Given the description of an element on the screen output the (x, y) to click on. 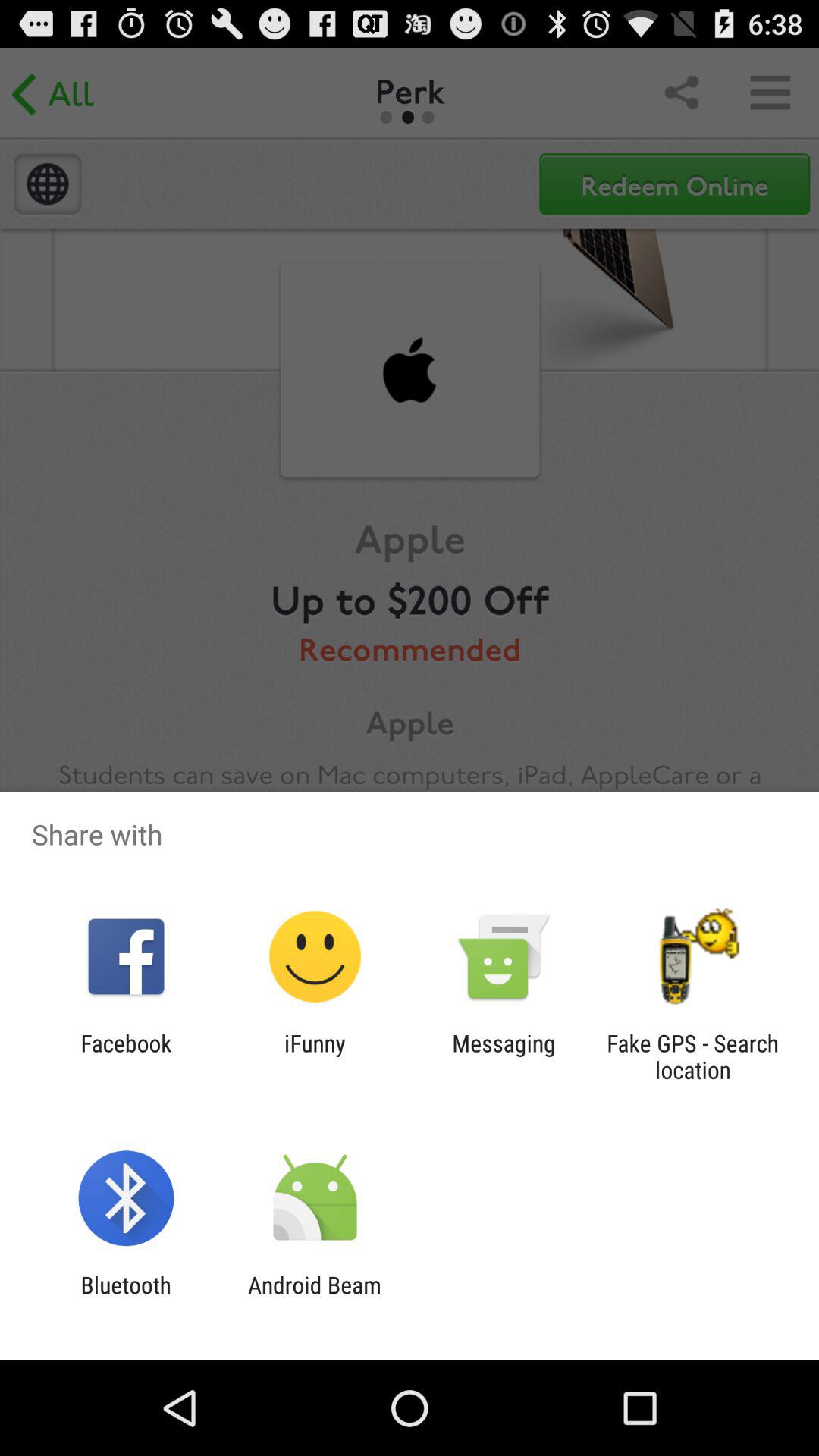
turn off icon to the left of fake gps search app (503, 1056)
